Given the description of an element on the screen output the (x, y) to click on. 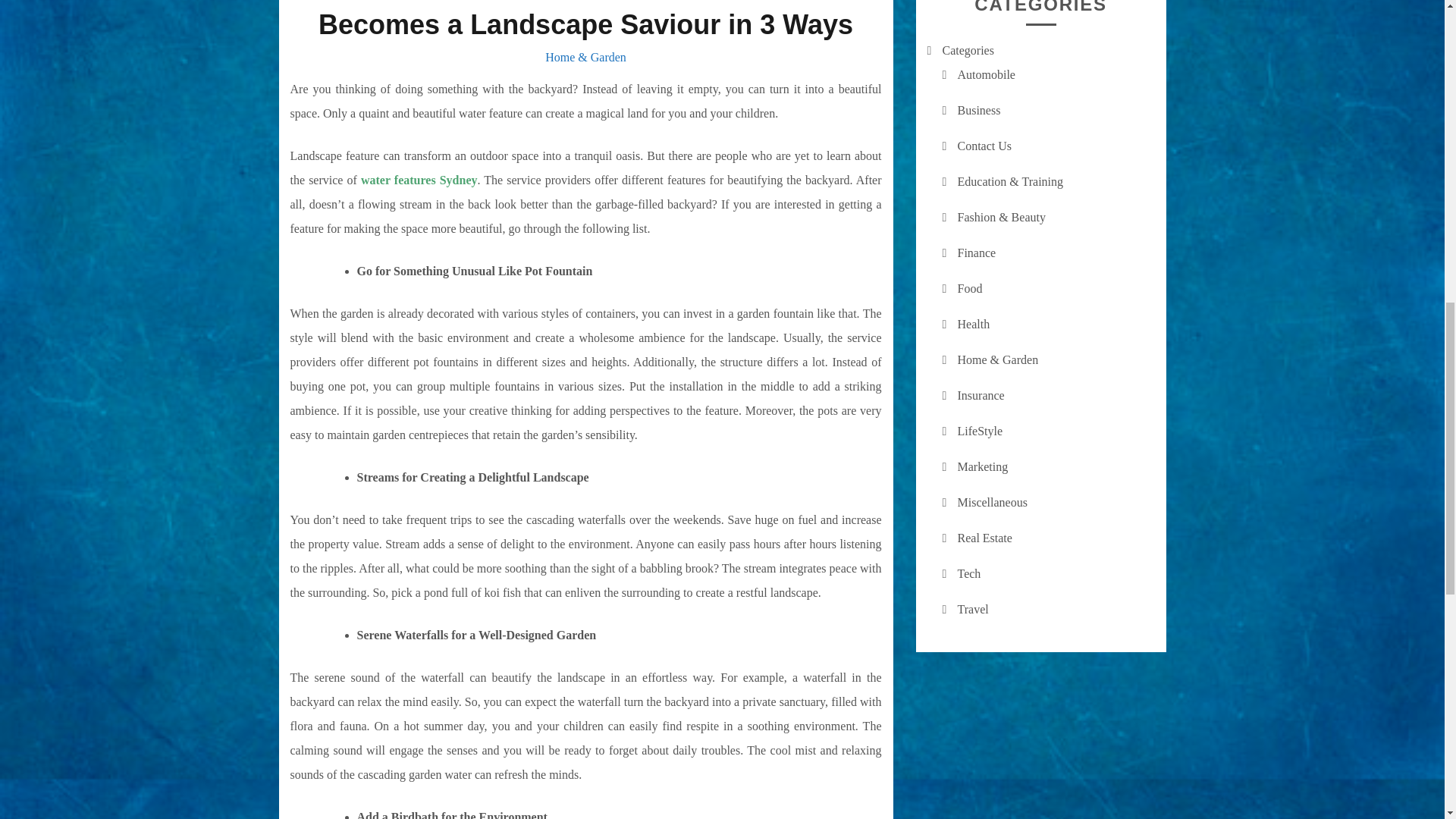
Business (978, 110)
Contact Us (983, 145)
Automobile (985, 74)
water features Sydney (419, 179)
